Given the description of an element on the screen output the (x, y) to click on. 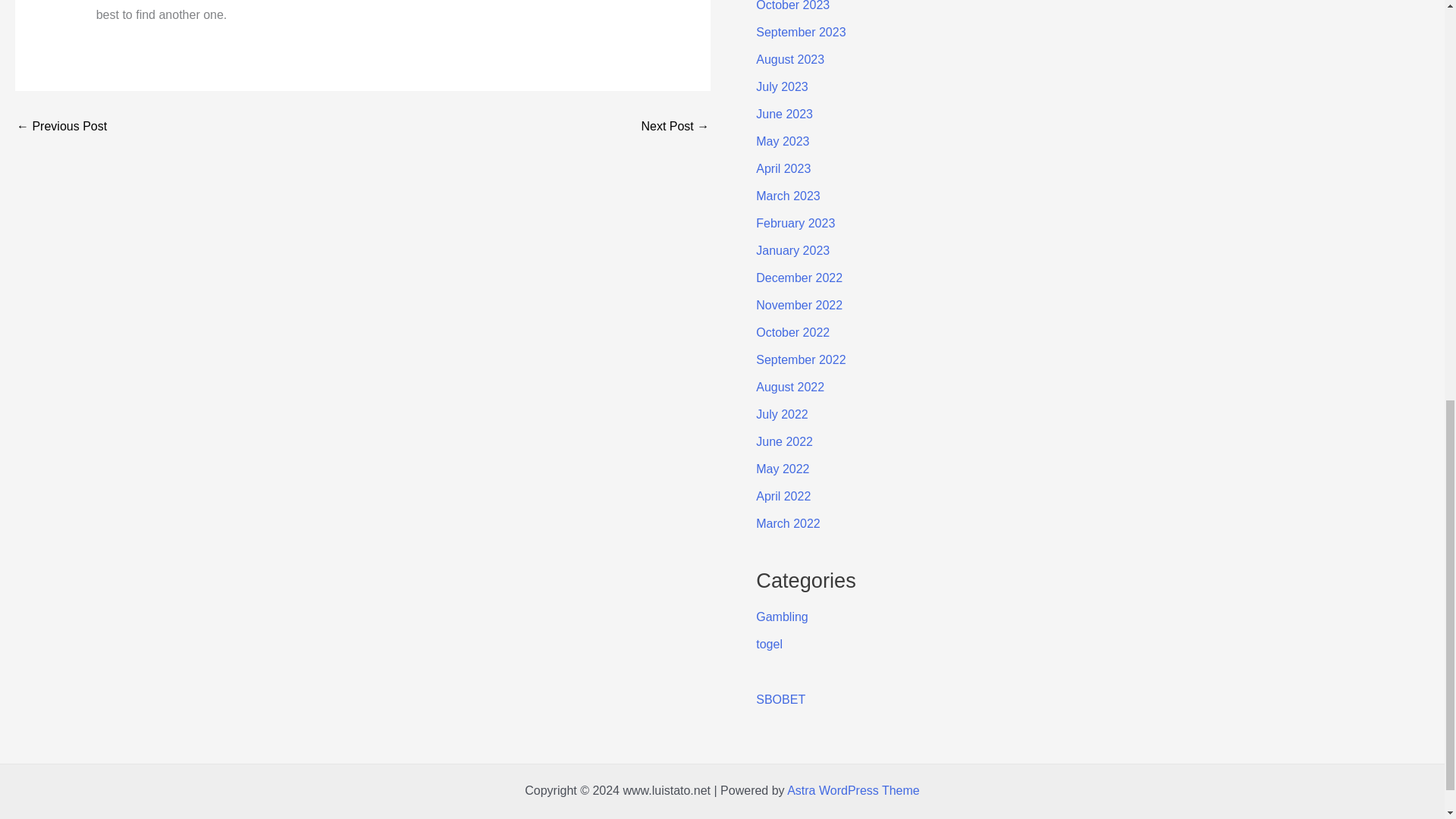
April 2023 (782, 168)
The Odds of Winning a Lottery (61, 126)
October 2023 (792, 5)
July 2023 (781, 86)
May 2023 (782, 141)
What is a Slot? (674, 126)
February 2023 (794, 223)
August 2023 (789, 59)
January 2023 (792, 250)
November 2022 (799, 305)
